Given the description of an element on the screen output the (x, y) to click on. 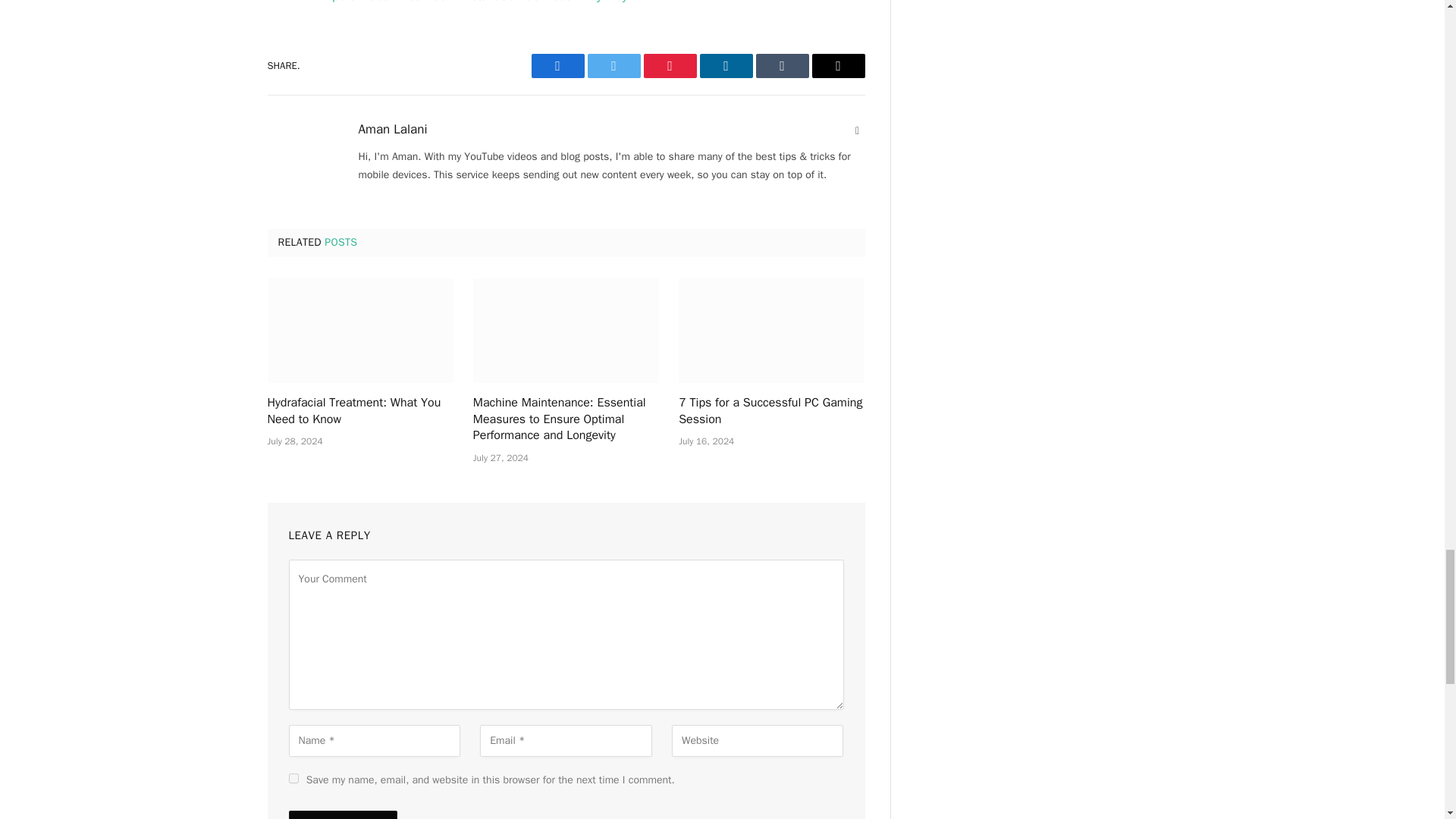
Post Comment (342, 814)
yes (293, 777)
